Given the description of an element on the screen output the (x, y) to click on. 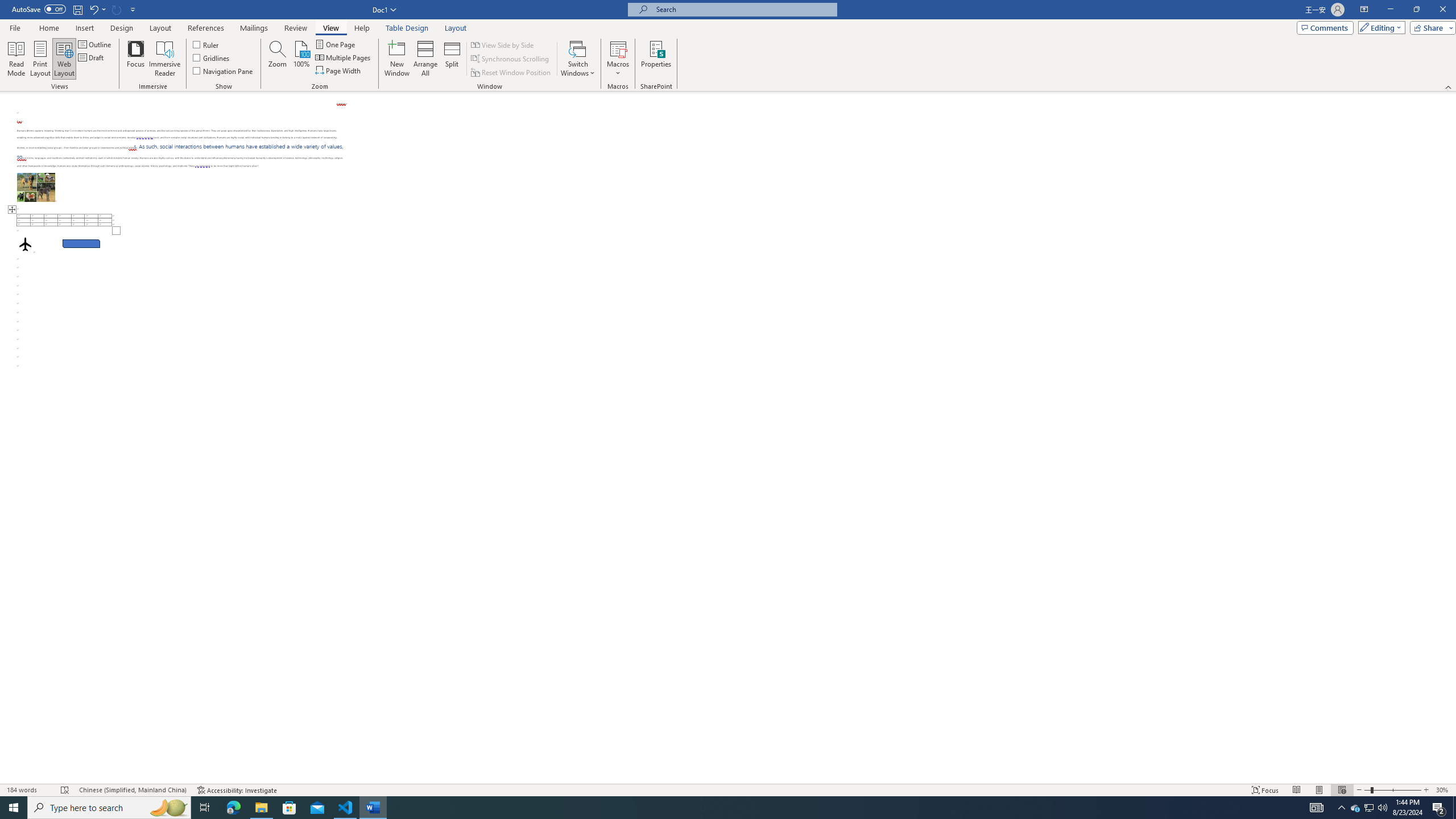
Zoom 30% (1443, 790)
View Macros (617, 48)
Multiple Pages (343, 56)
